Given the description of an element on the screen output the (x, y) to click on. 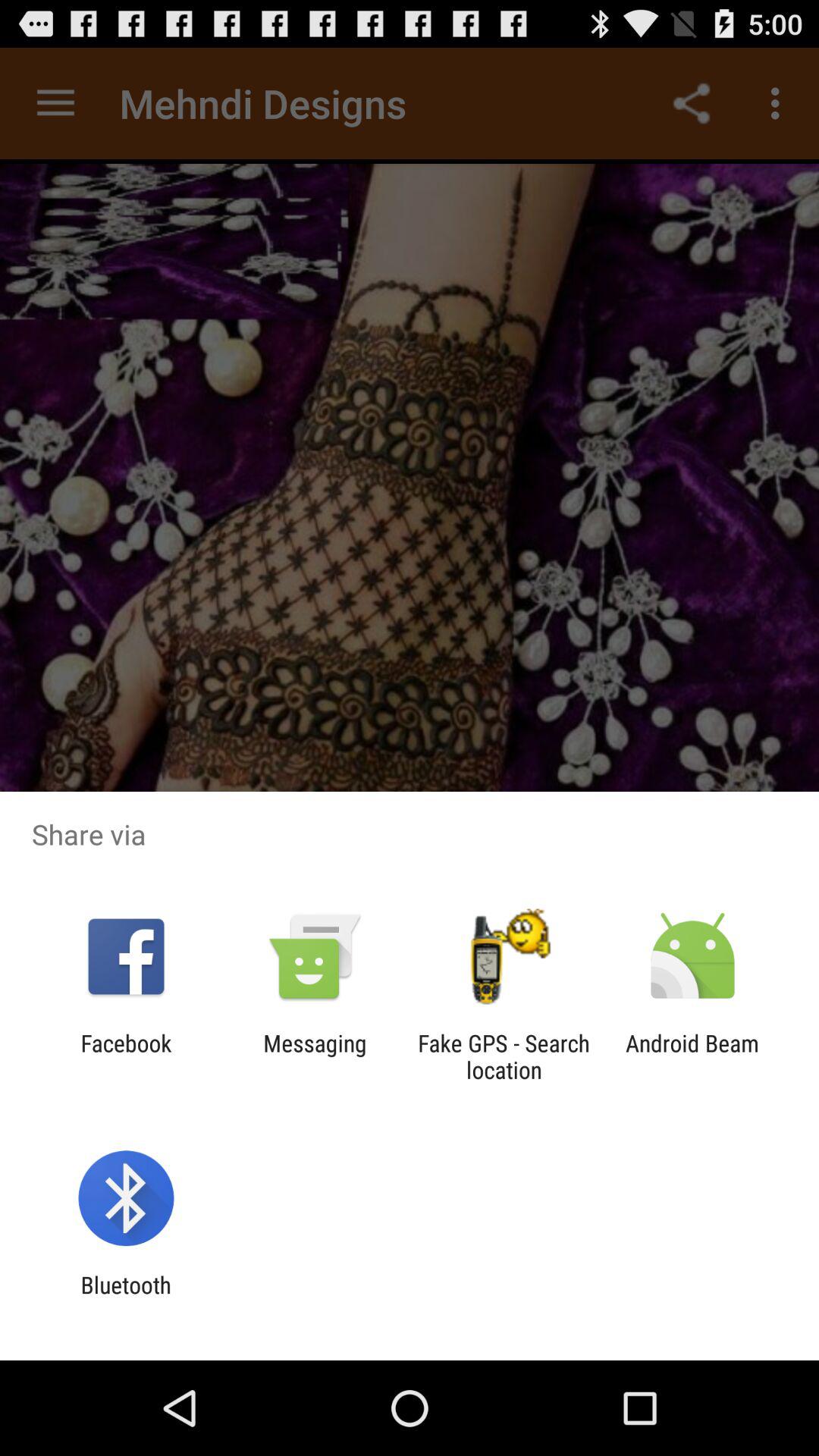
tap the item to the right of the messaging app (503, 1056)
